Given the description of an element on the screen output the (x, y) to click on. 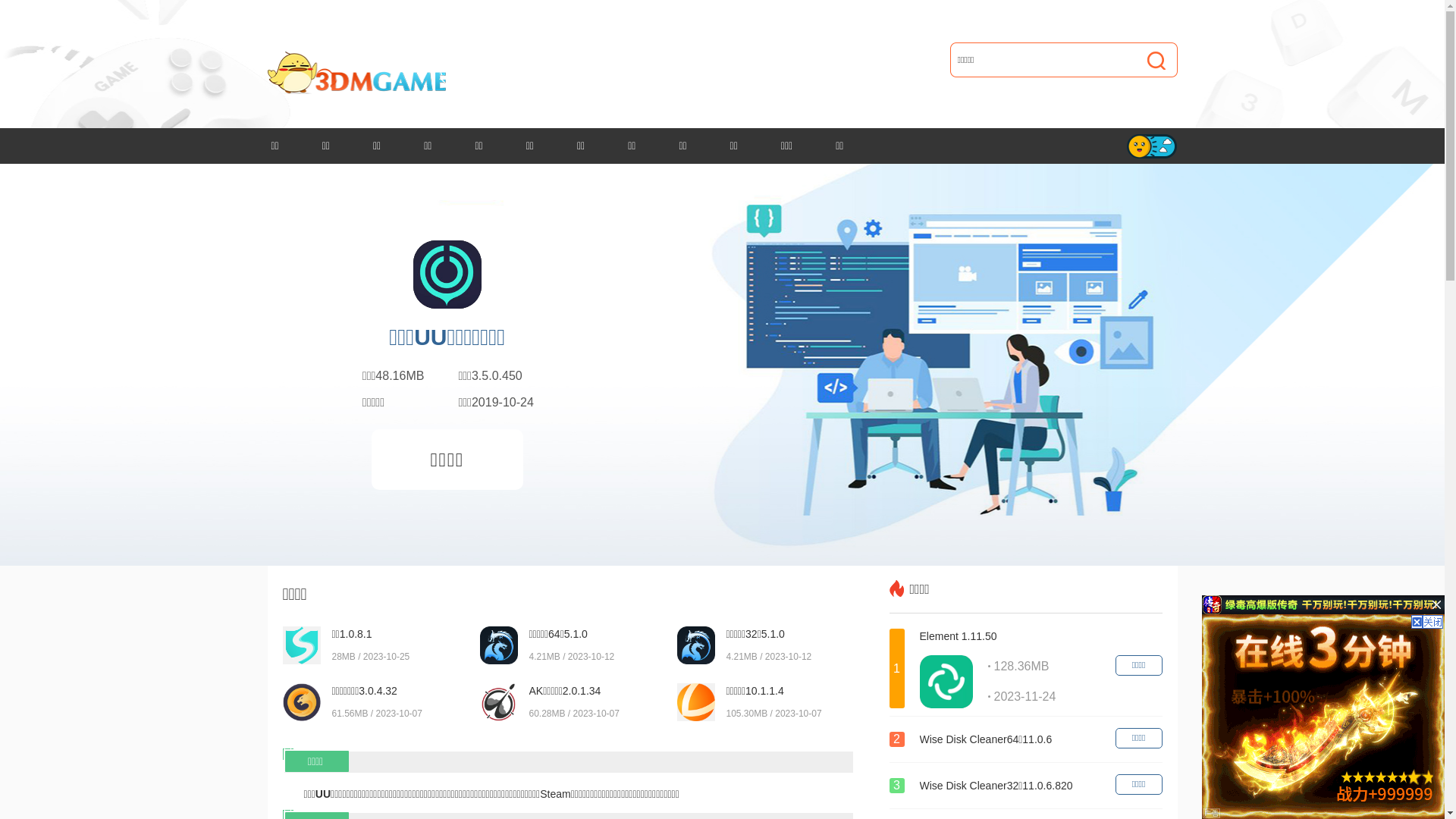
Element 1.11.50 Element type: text (1036, 635)
